Given the description of an element on the screen output the (x, y) to click on. 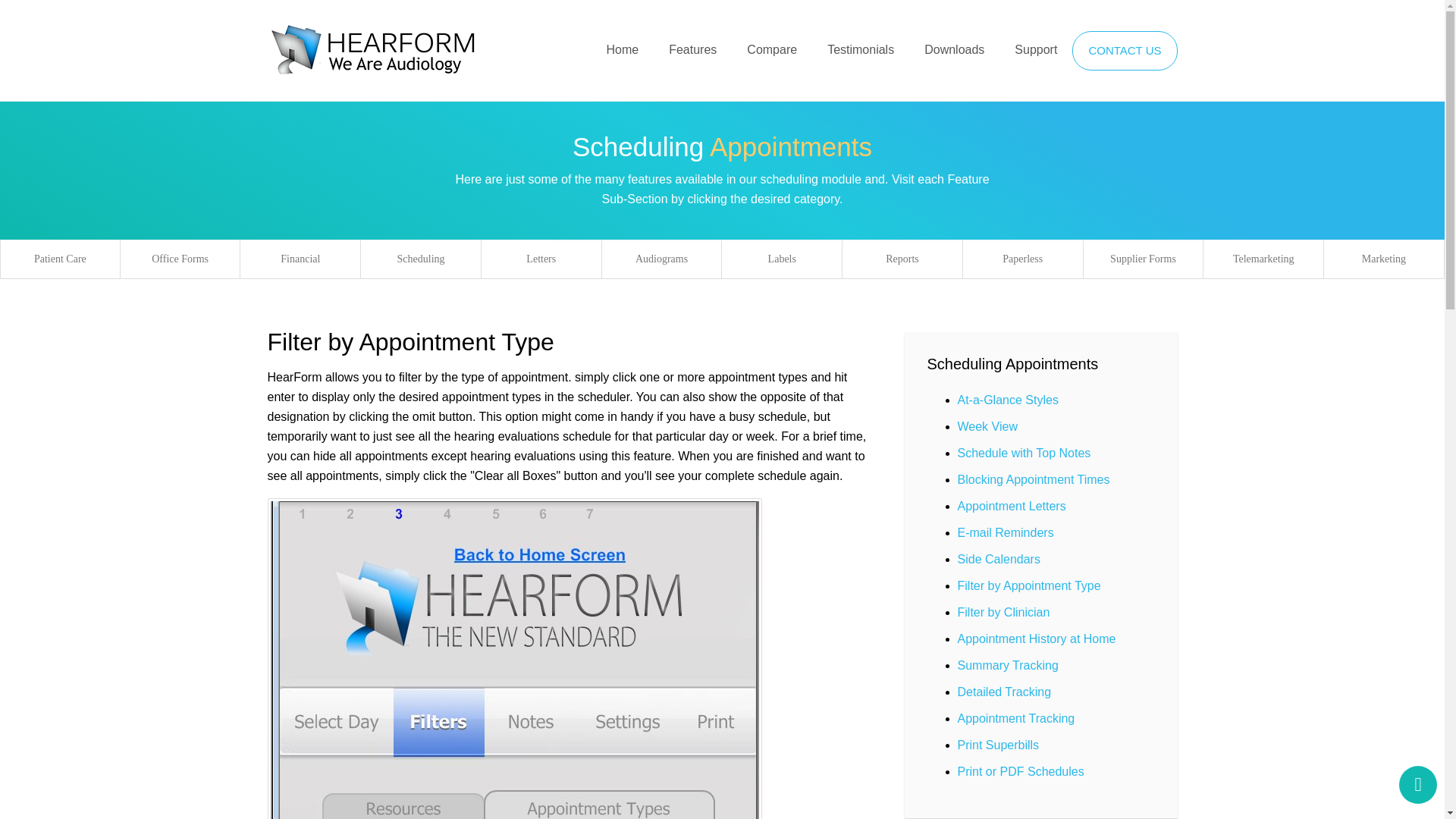
E-mail Reminders (1004, 532)
Home (622, 48)
Telemarketing (1263, 259)
Paperless (1022, 259)
Letters (541, 259)
At-a-Glance Styles (1007, 399)
Scheduling (420, 259)
Appointment Letters (1010, 505)
Office Forms (180, 259)
Schedule with Top Notes (1023, 452)
